Given the description of an element on the screen output the (x, y) to click on. 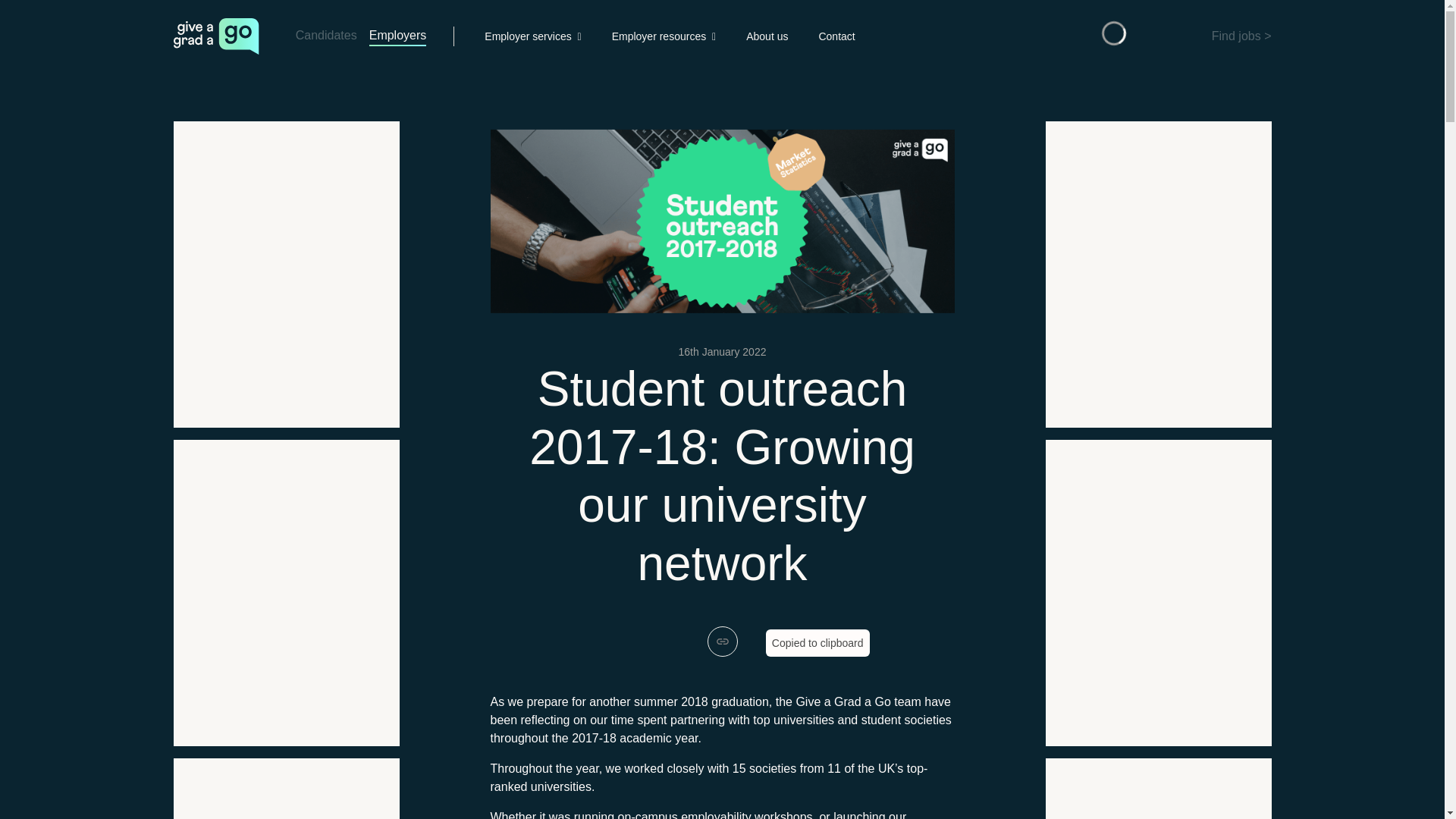
Give a Grad a Go (216, 36)
Post a job (1135, 36)
About us (766, 36)
Employer services (532, 36)
Contact (836, 36)
Candidates (325, 36)
Employers (397, 36)
Sign in (1069, 36)
Employer resources (663, 36)
